Given the description of an element on the screen output the (x, y) to click on. 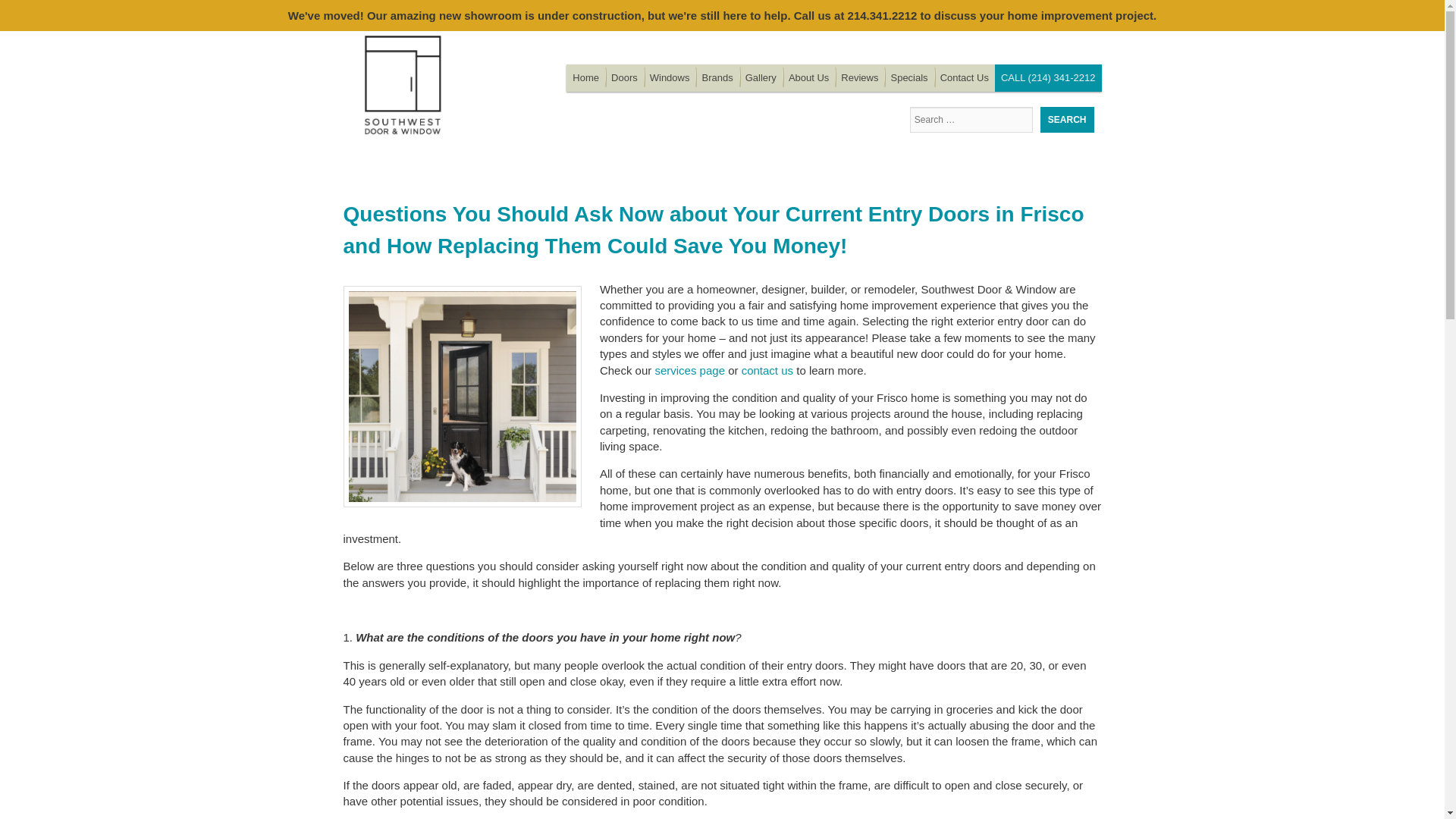
services page (689, 369)
Brands (716, 77)
Reviews (858, 77)
Windows (669, 77)
Gallery (761, 77)
Contact Us (964, 77)
Skip to secondary content (629, 77)
Skip to primary content (622, 77)
Doors (624, 77)
Search (1067, 119)
